Given the description of an element on the screen output the (x, y) to click on. 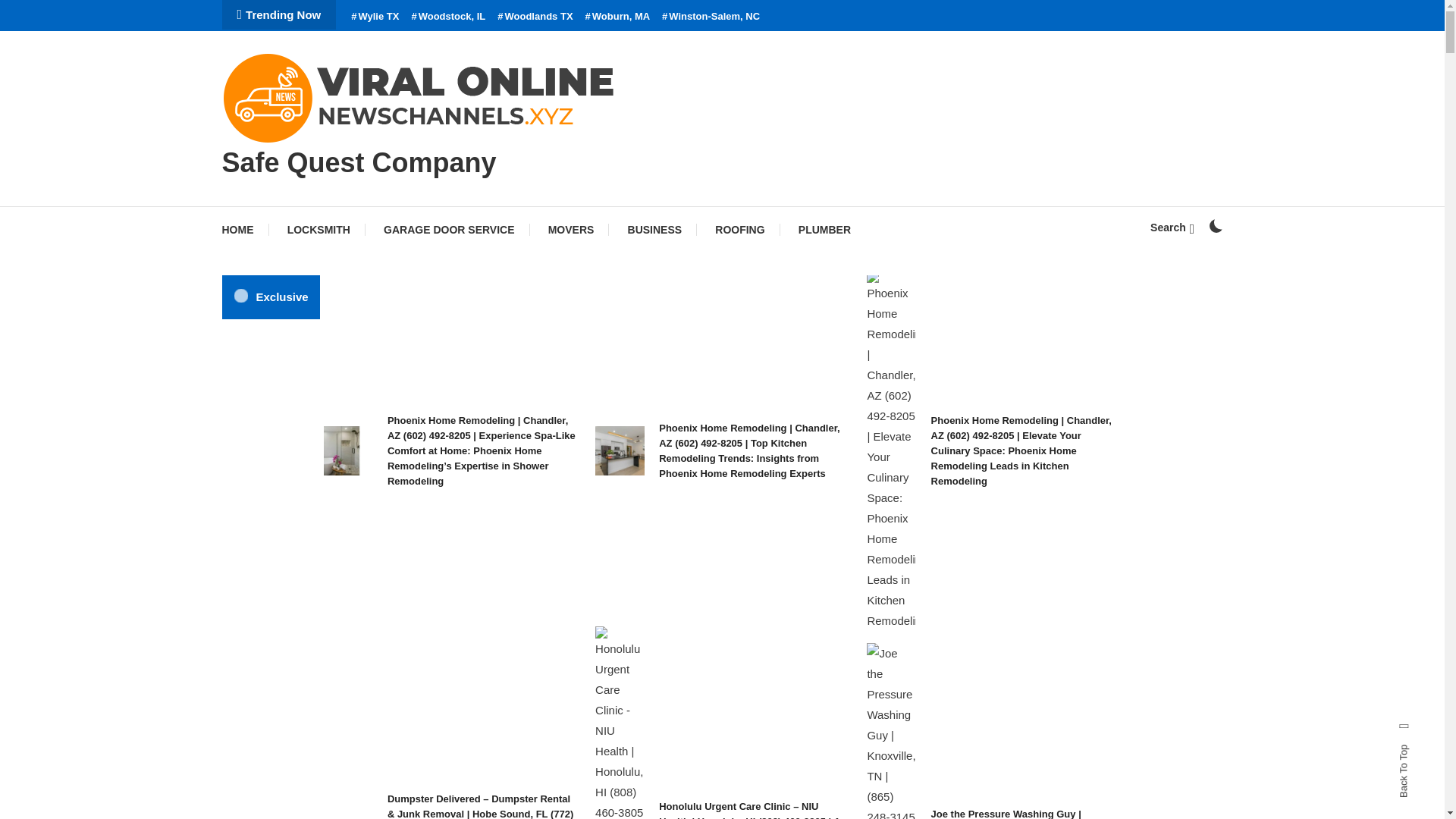
Woburn, MA (617, 16)
Search (768, 434)
Safe Quest Company (358, 162)
LOCKSMITH (318, 229)
BUSINESS (654, 229)
Woodlands TX (534, 16)
MOVERS (571, 229)
Search (1171, 227)
Wylie TX (374, 16)
PLUMBER (824, 229)
